Given the description of an element on the screen output the (x, y) to click on. 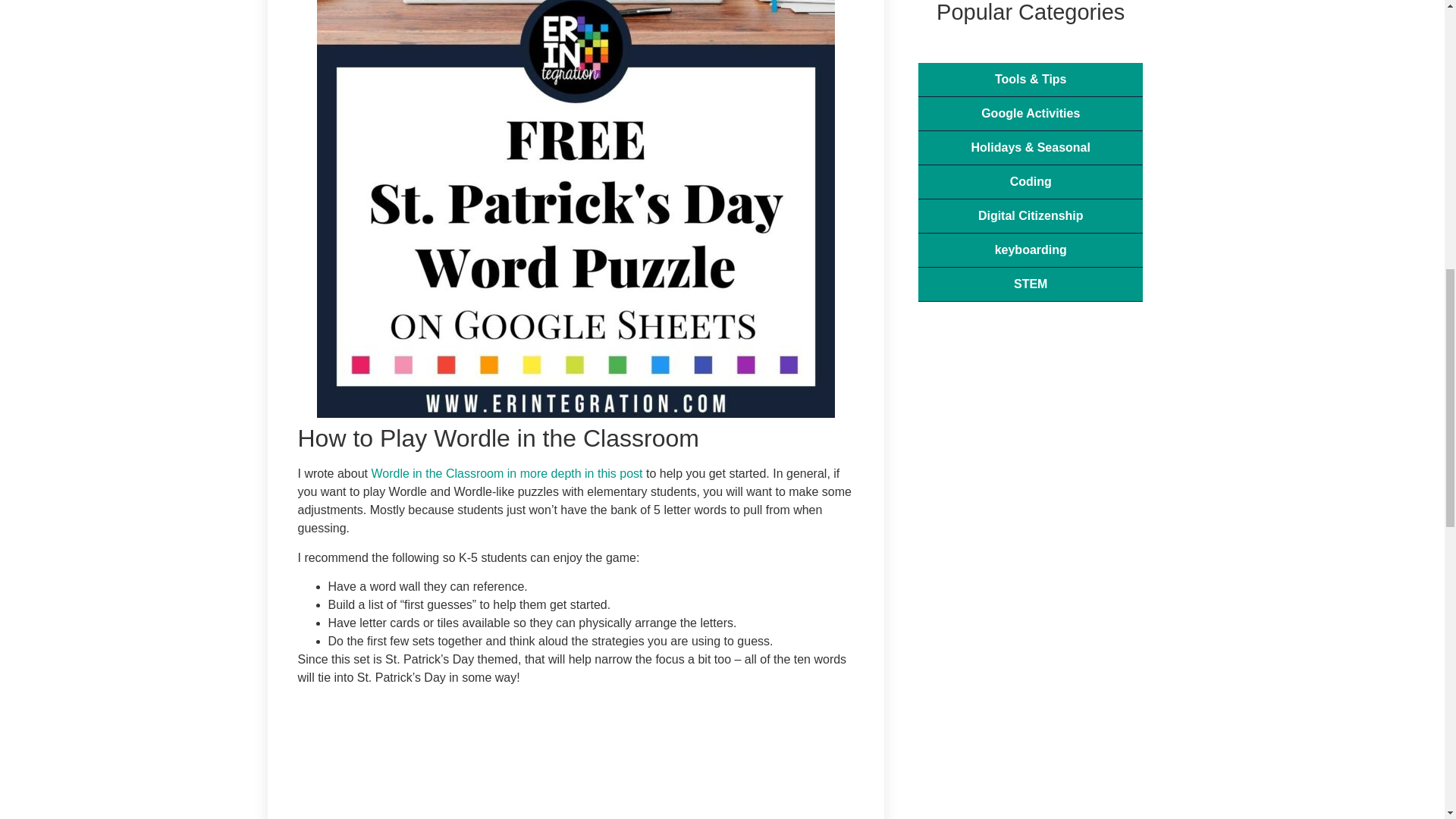
Google Activities (1030, 114)
Wordle in the Classroom in more depth in this post (506, 472)
